Given the description of an element on the screen output the (x, y) to click on. 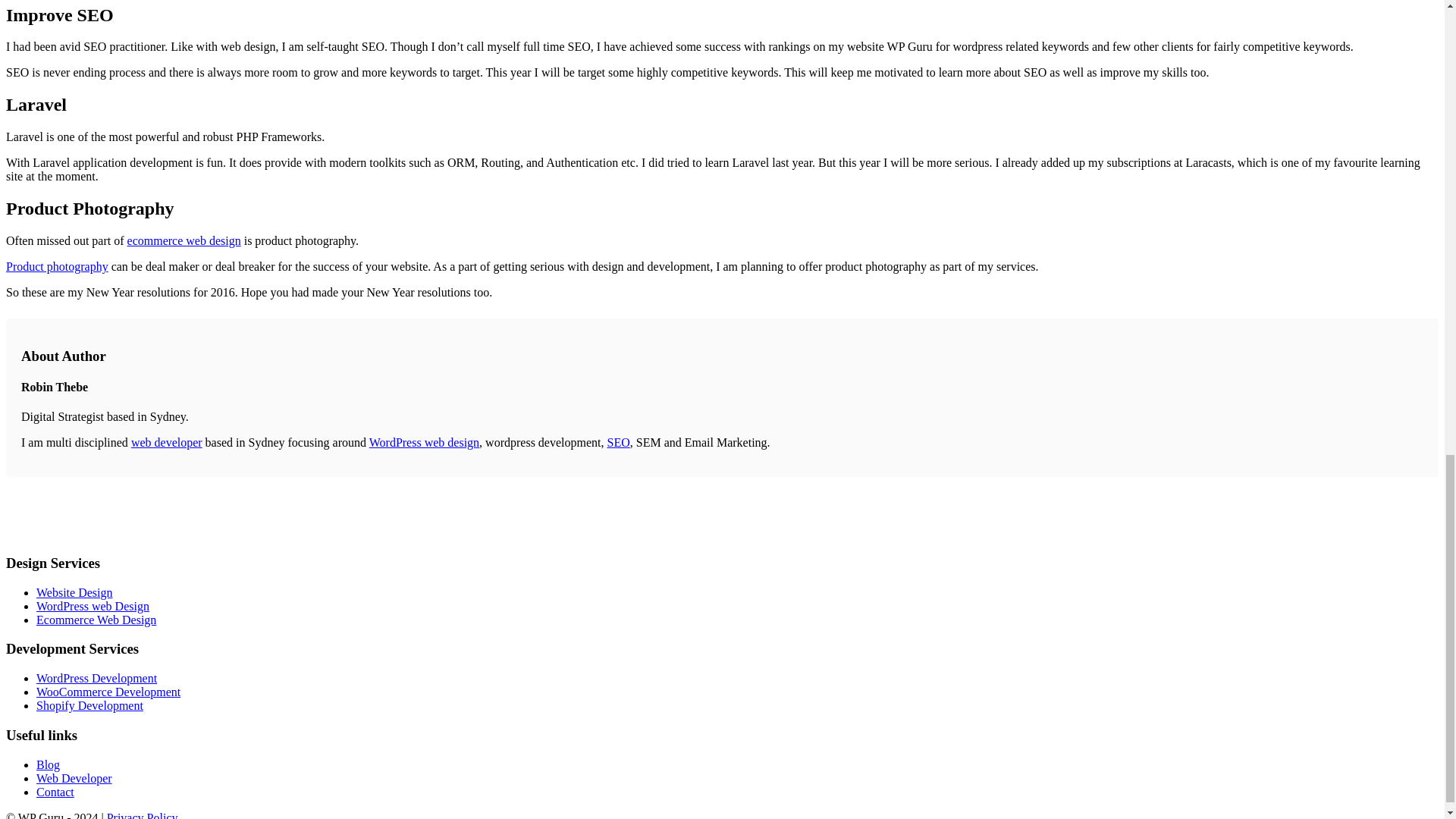
WordPress web design (424, 441)
ecommerce web design (184, 240)
Shopify Development (89, 705)
Ecommerce Web Design (95, 619)
WordPress Development (96, 677)
SEO (617, 441)
Contact (55, 791)
WooCommerce Development (108, 691)
Product photography (56, 266)
Web Developer (74, 778)
WordPress web Design (92, 605)
web developer (166, 441)
Website Design (74, 592)
Blog (47, 764)
